Given the description of an element on the screen output the (x, y) to click on. 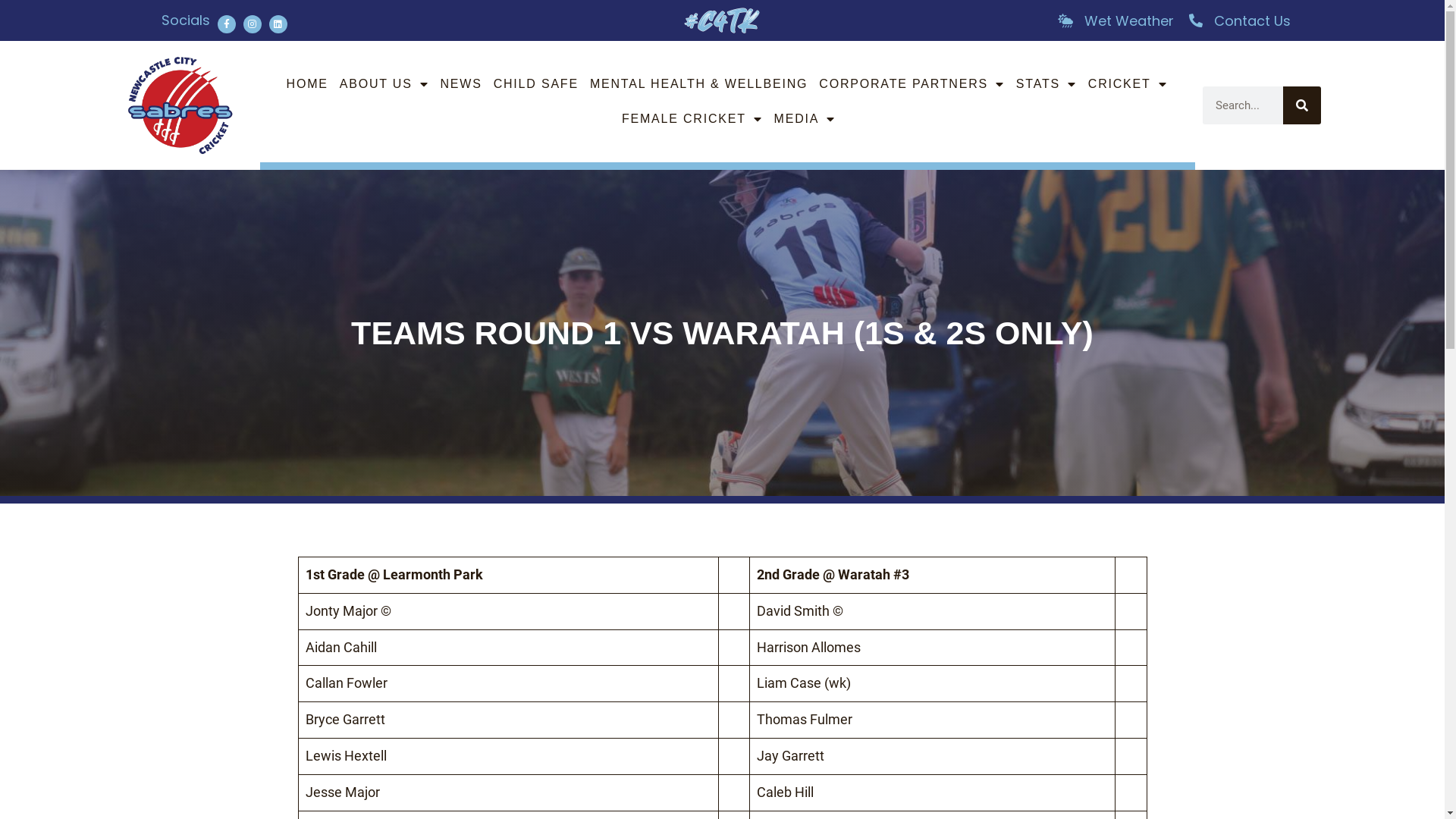
MENTAL HEALTH & WELLBEING Element type: text (698, 83)
Socials Element type: text (184, 19)
Wet Weather Element type: text (1114, 20)
CHILD SAFE Element type: text (535, 83)
CRICKET Element type: text (1127, 83)
HOME Element type: text (307, 83)
Contact Us Element type: text (1238, 20)
ABOUT US Element type: text (384, 83)
#c4tk Element type: hover (721, 20)
FEMALE CRICKET Element type: text (692, 118)
CORPORATE PARTNERS Element type: text (911, 83)
NEWS Element type: text (460, 83)
MEDIA Element type: text (804, 118)
STATS Element type: text (1046, 83)
